Given the description of an element on the screen output the (x, y) to click on. 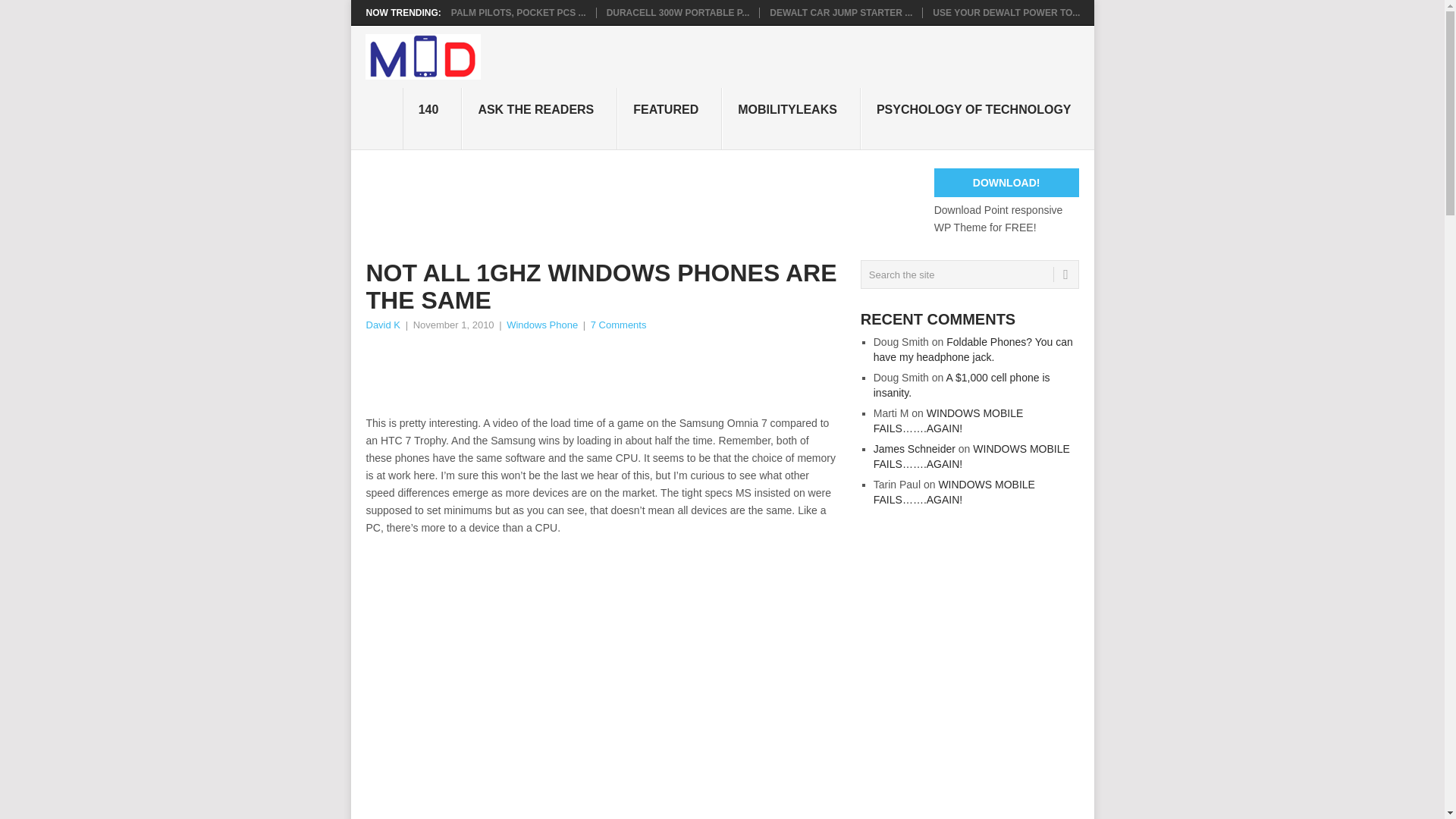
DOWNLOAD! (1006, 182)
PSYCHOLOGY OF TECHNOLOGY (977, 118)
140 (433, 118)
MOBILITYLEAKS (791, 118)
ASK THE READERS (539, 118)
Use Your DeWalt Power Tools Battery to Make Coffee! (1006, 12)
PALM PILOTS, POCKET PCS ... (518, 12)
Advertisement (641, 202)
Posts by David K (382, 324)
DeWalt Car Jump Starter Review (841, 12)
USE YOUR DEWALT POWER TO... (1006, 12)
David K (382, 324)
Windows Phone (542, 324)
Search the site (969, 274)
7 Comments (618, 324)
